Given the description of an element on the screen output the (x, y) to click on. 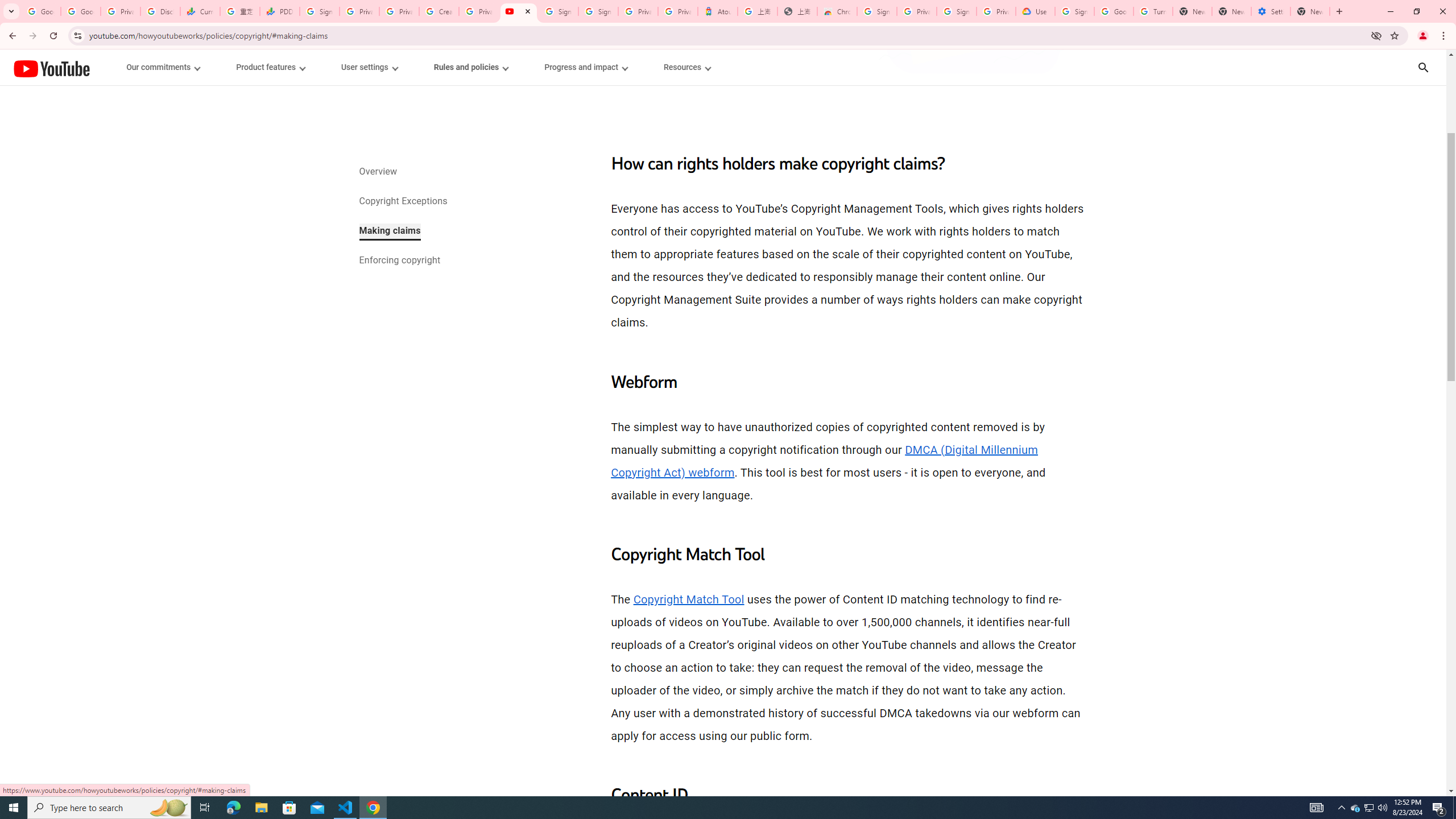
Google Workspace Admin Community (40, 11)
Turn cookies on or off - Computer - Google Account Help (1152, 11)
Product features menupopup (269, 67)
Resources menupopup (686, 67)
Play (723, 469)
Enforcing copyright (399, 261)
Chrome Web Store - Color themes by Chrome (836, 11)
New Tab (1310, 11)
